Given the description of an element on the screen output the (x, y) to click on. 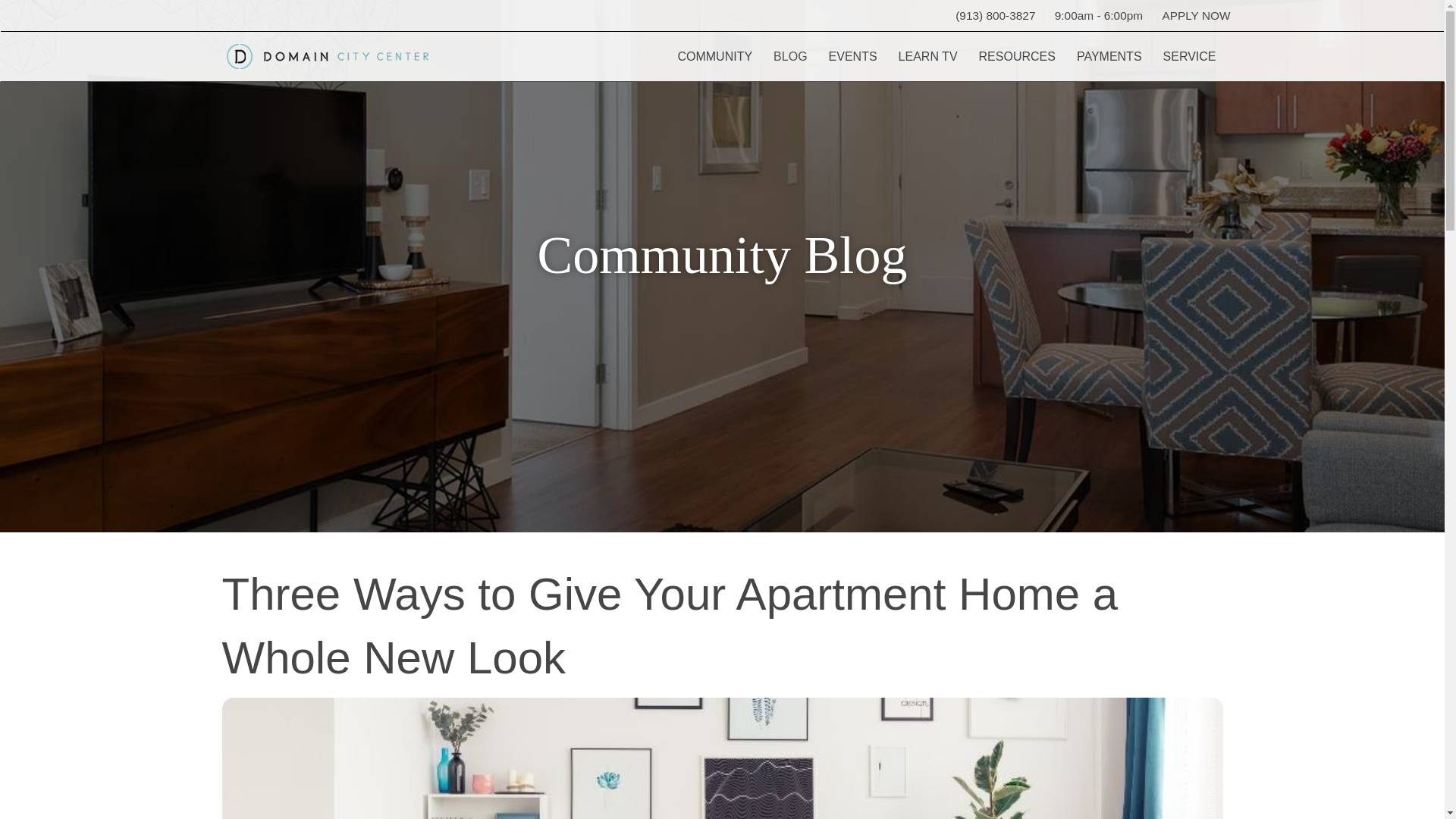
SERVICE (1190, 56)
APPLY NOW (1195, 15)
BLOG (789, 56)
LEARN TV (928, 56)
EVENTS (853, 56)
PAYMENTS (1109, 56)
RESOURCES (1016, 56)
COMMUNITY (714, 56)
